Given the description of an element on the screen output the (x, y) to click on. 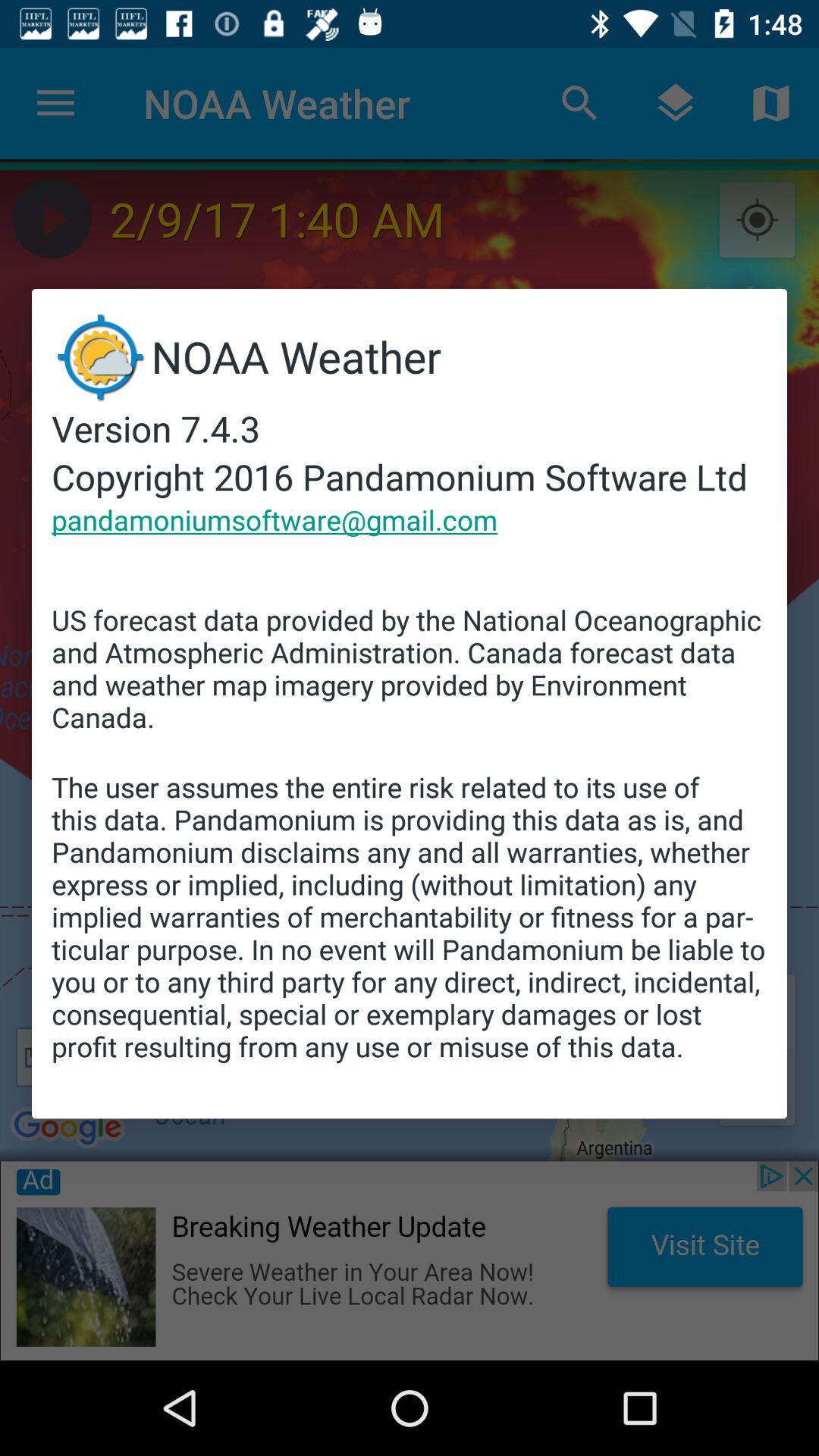
click icon below the copyright 2016 pandamonium item (274, 519)
